Given the description of an element on the screen output the (x, y) to click on. 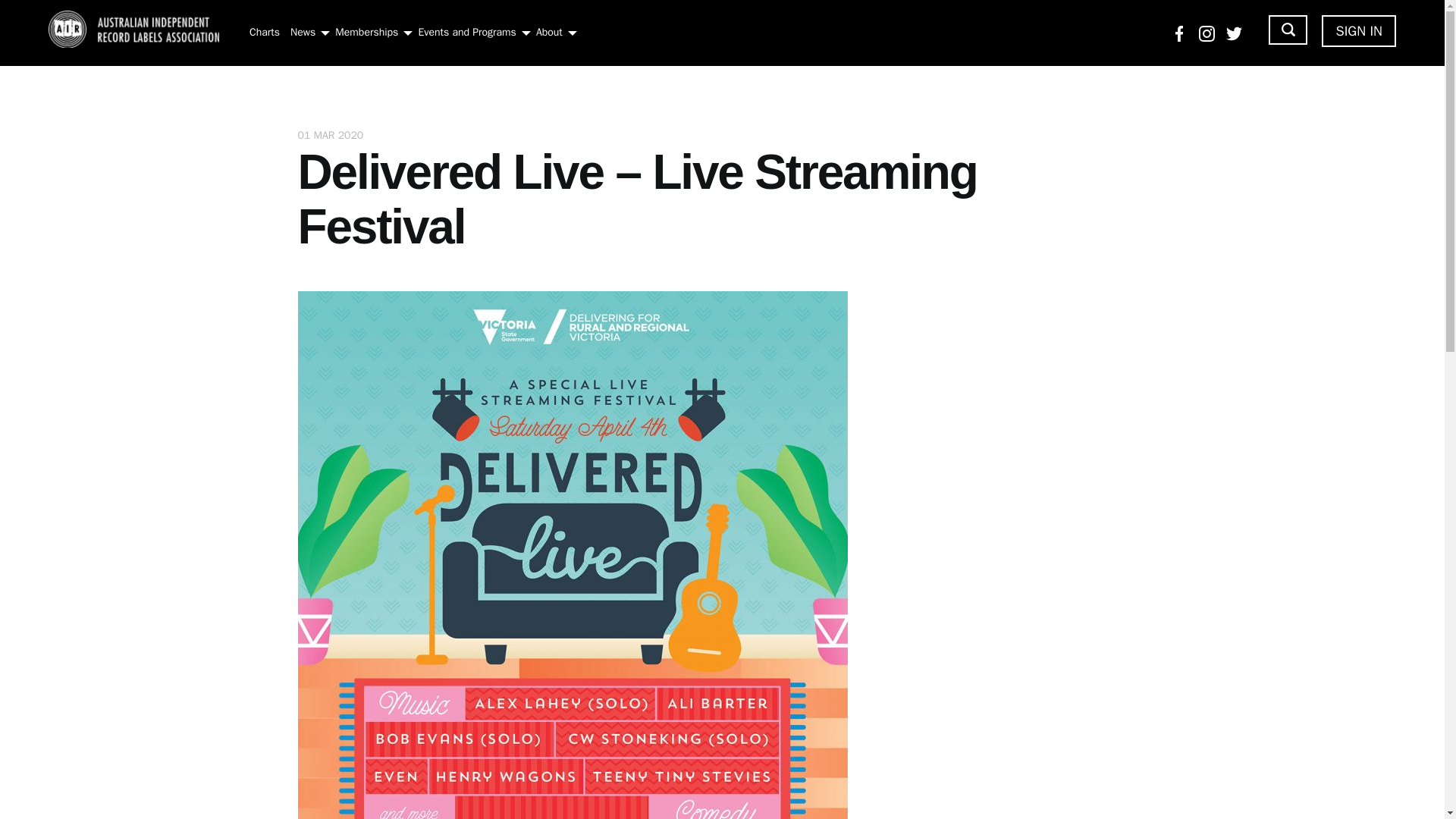
Charts (263, 32)
About (548, 32)
Events and Programs (466, 32)
News (302, 32)
Memberships (365, 32)
SIGN IN (1359, 30)
